Given the description of an element on the screen output the (x, y) to click on. 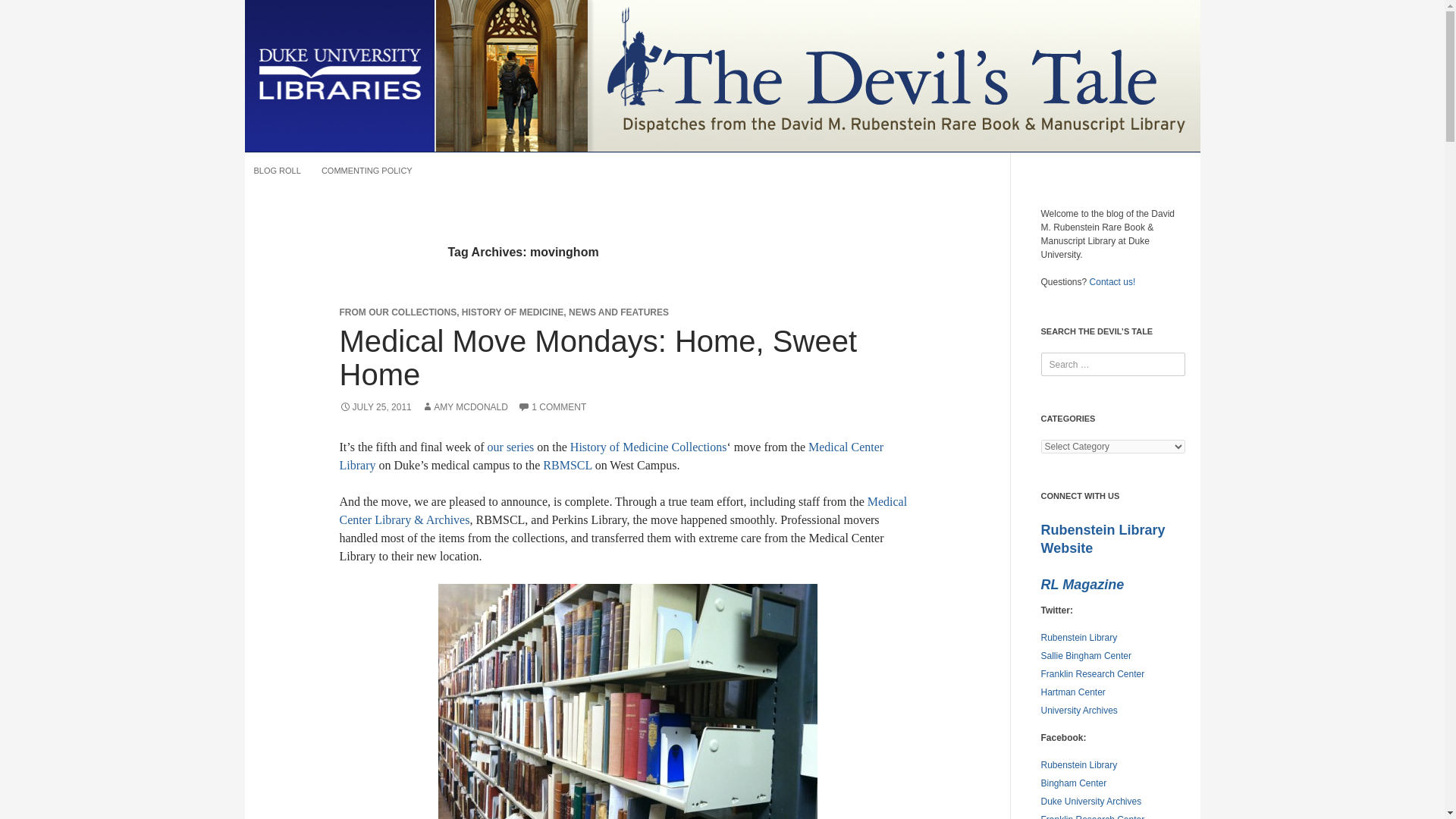
COMMENTING POLICY (367, 170)
our series (510, 446)
FROM OUR COLLECTIONS (398, 312)
JULY 25, 2011 (375, 407)
HISTORY OF MEDICINE (512, 312)
RBMSCL (567, 464)
History of Medicine Collections (648, 446)
Medical Move Mondays: Home, Sweet Home (598, 357)
NEWS AND FEATURES (618, 312)
Medical Center Library (611, 455)
BLOG ROLL (276, 170)
1 COMMENT (552, 407)
Duke University Libraries (338, 74)
AMY MCDONALD (465, 407)
